Given the description of an element on the screen output the (x, y) to click on. 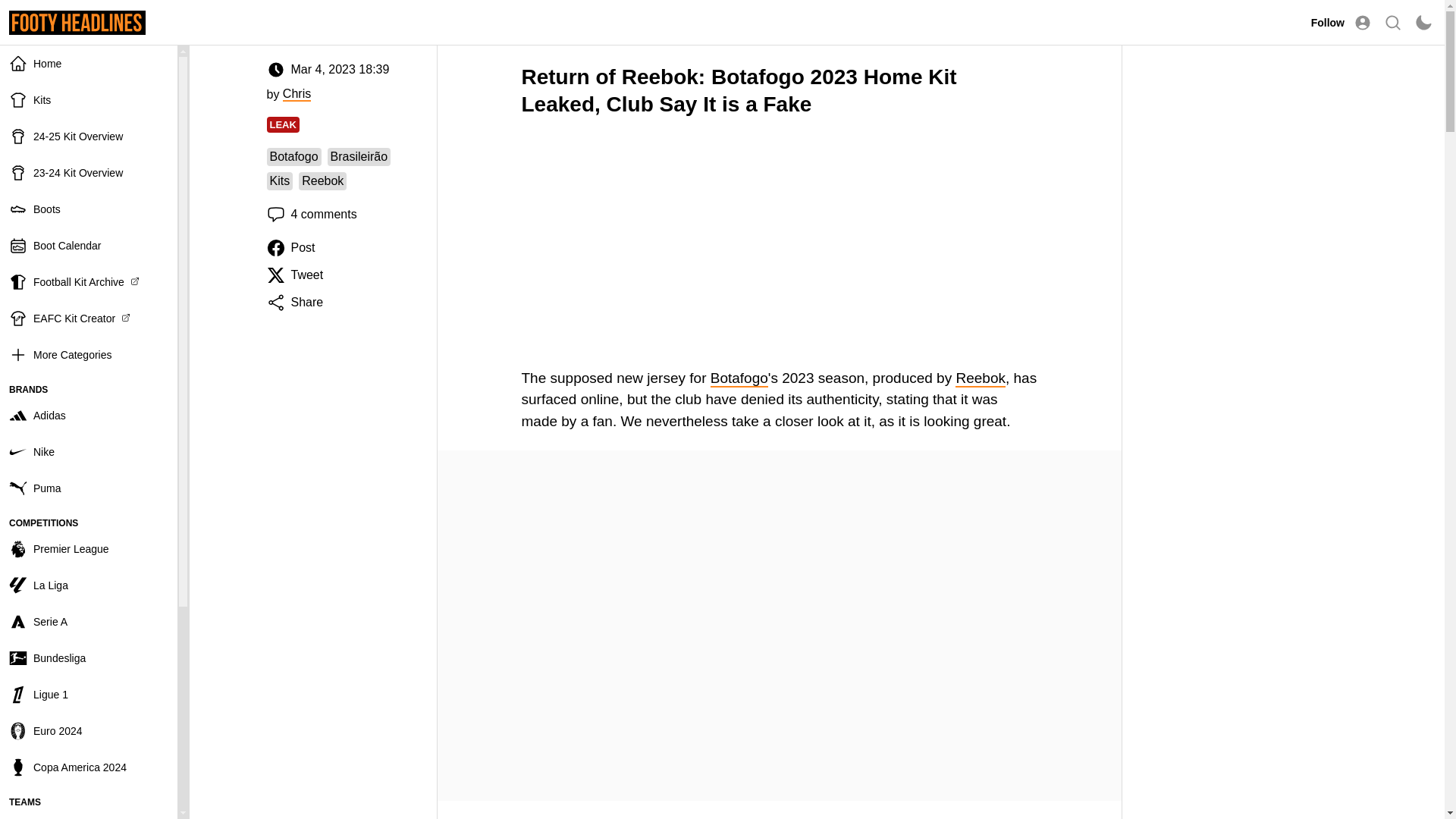
Football Kit Archive (88, 281)
Home (88, 63)
Premier League (88, 548)
Adidas (88, 415)
EAFC Kit Creator (88, 318)
Arsenal (88, 814)
Euro 2024 (88, 730)
24-25 Kit Overview (88, 135)
Boot Calendar (88, 245)
Bundesliga (88, 657)
Nike (88, 452)
Serie A (88, 621)
Boots (88, 208)
23-24 Kit Overview (88, 172)
